Given the description of an element on the screen output the (x, y) to click on. 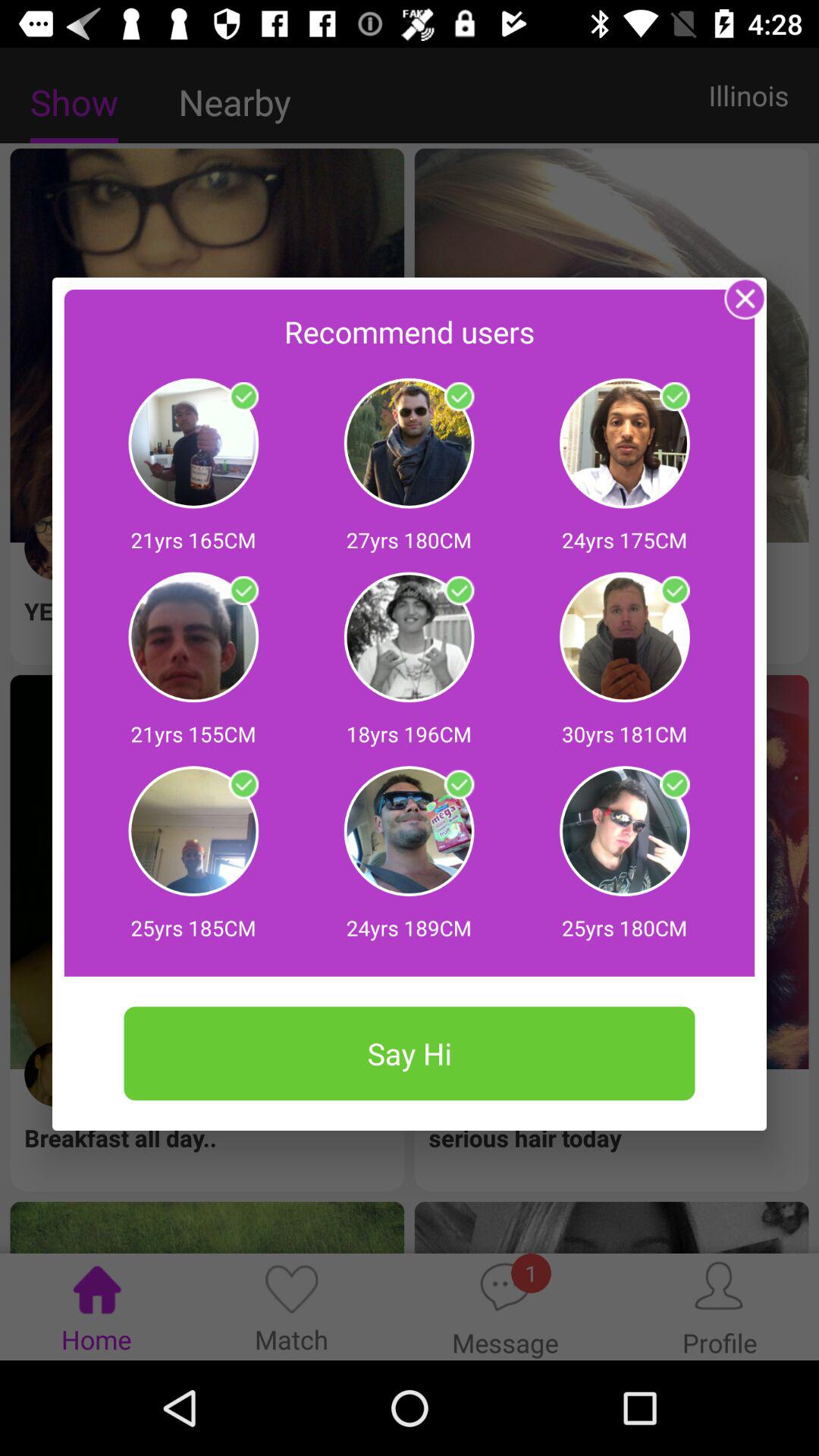
select this profile (243, 784)
